Given the description of an element on the screen output the (x, y) to click on. 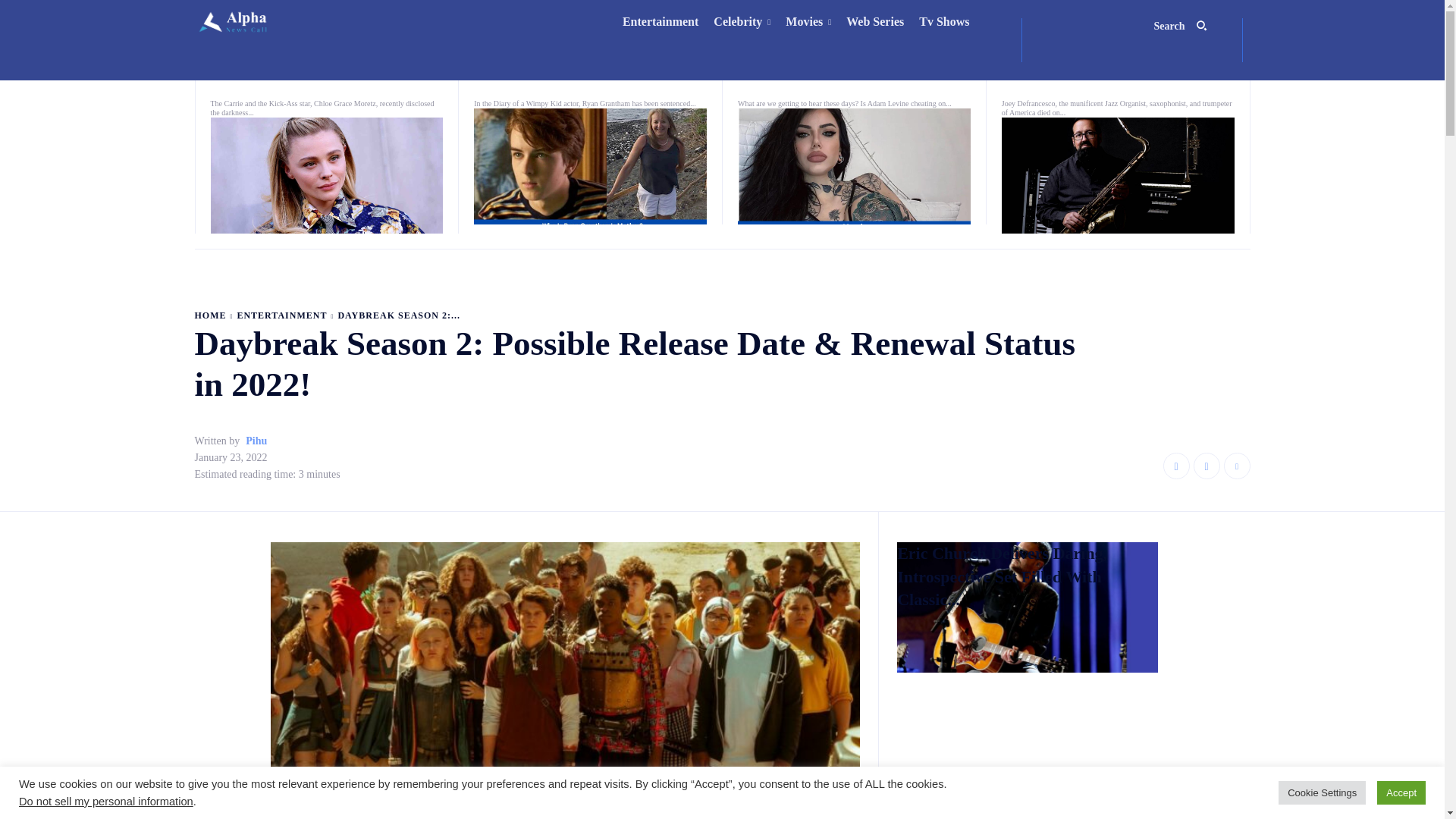
Renowned American Jazz Organist Joey Defrancesco No More! (1073, 73)
Renowned American Jazz Organist Joey Defrancesco No More! (1117, 175)
View all posts in Entertainment (280, 315)
Celebrity (741, 22)
Facebook (1176, 465)
Entertainment (660, 22)
Who Is Maryka? About Maryka And Adam Levine Affair Rumors! (854, 166)
Twitter (1237, 465)
Instagram (1206, 465)
Who Is Maryka? About Maryka And Adam Levine Affair Rumors! (787, 73)
